Given the description of an element on the screen output the (x, y) to click on. 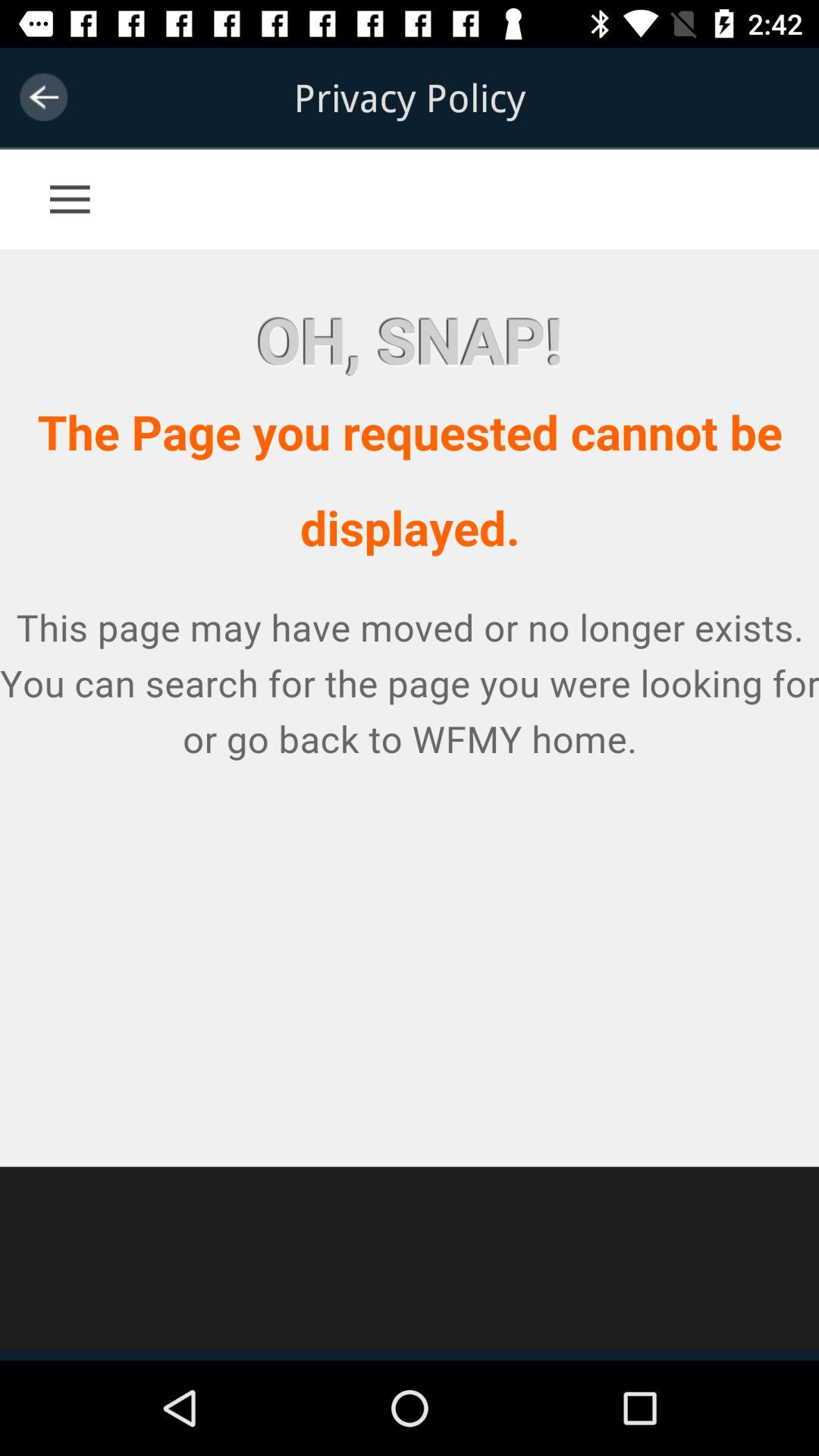
go back to the previous page (43, 97)
